Given the description of an element on the screen output the (x, y) to click on. 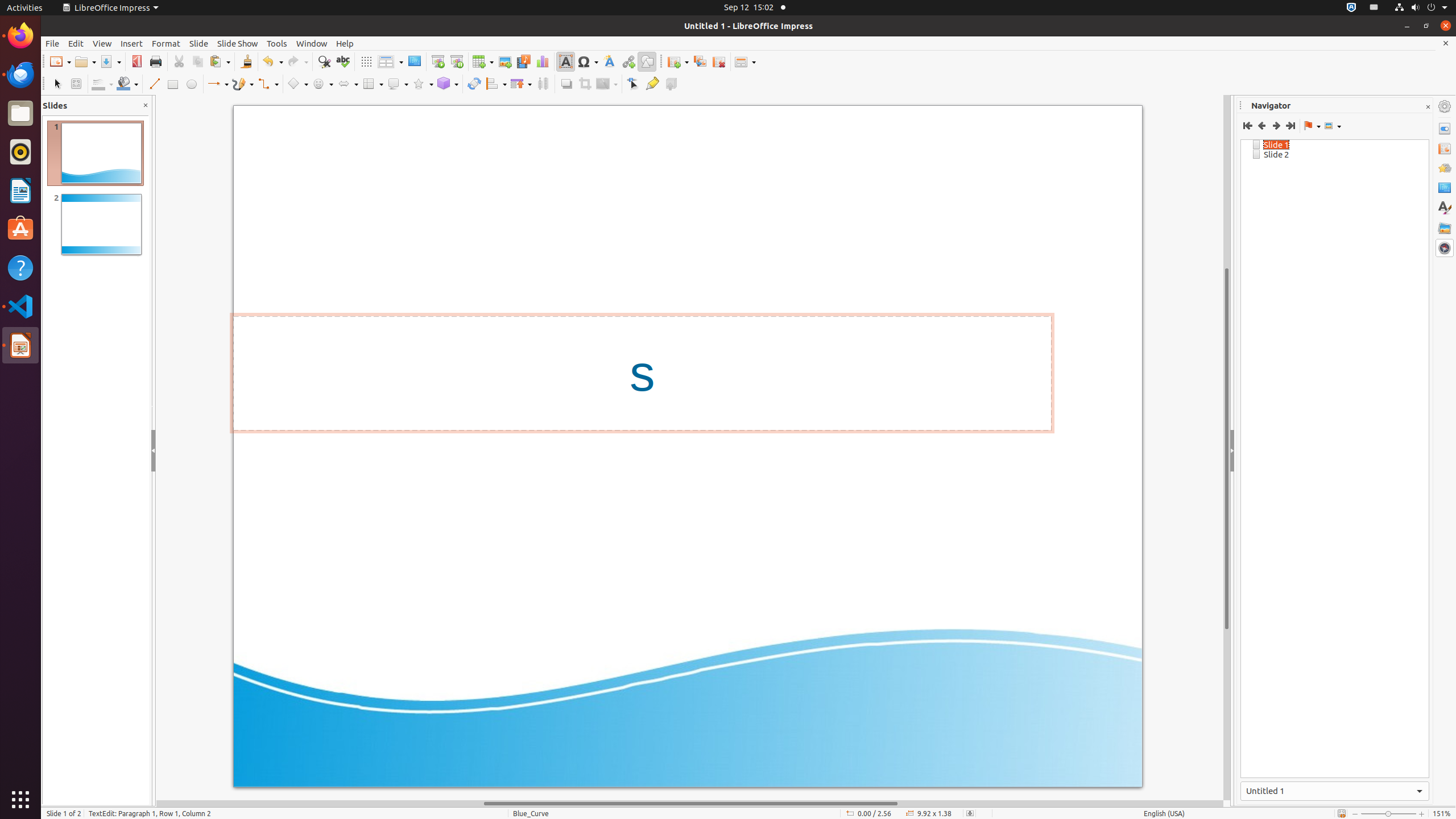
Duplicate Slide Element type: push-button (699, 61)
Next Slide Element type: push-button (1275, 125)
Chart Element type: push-button (541, 61)
Show Applications Element type: toggle-button (20, 799)
